Given the description of an element on the screen output the (x, y) to click on. 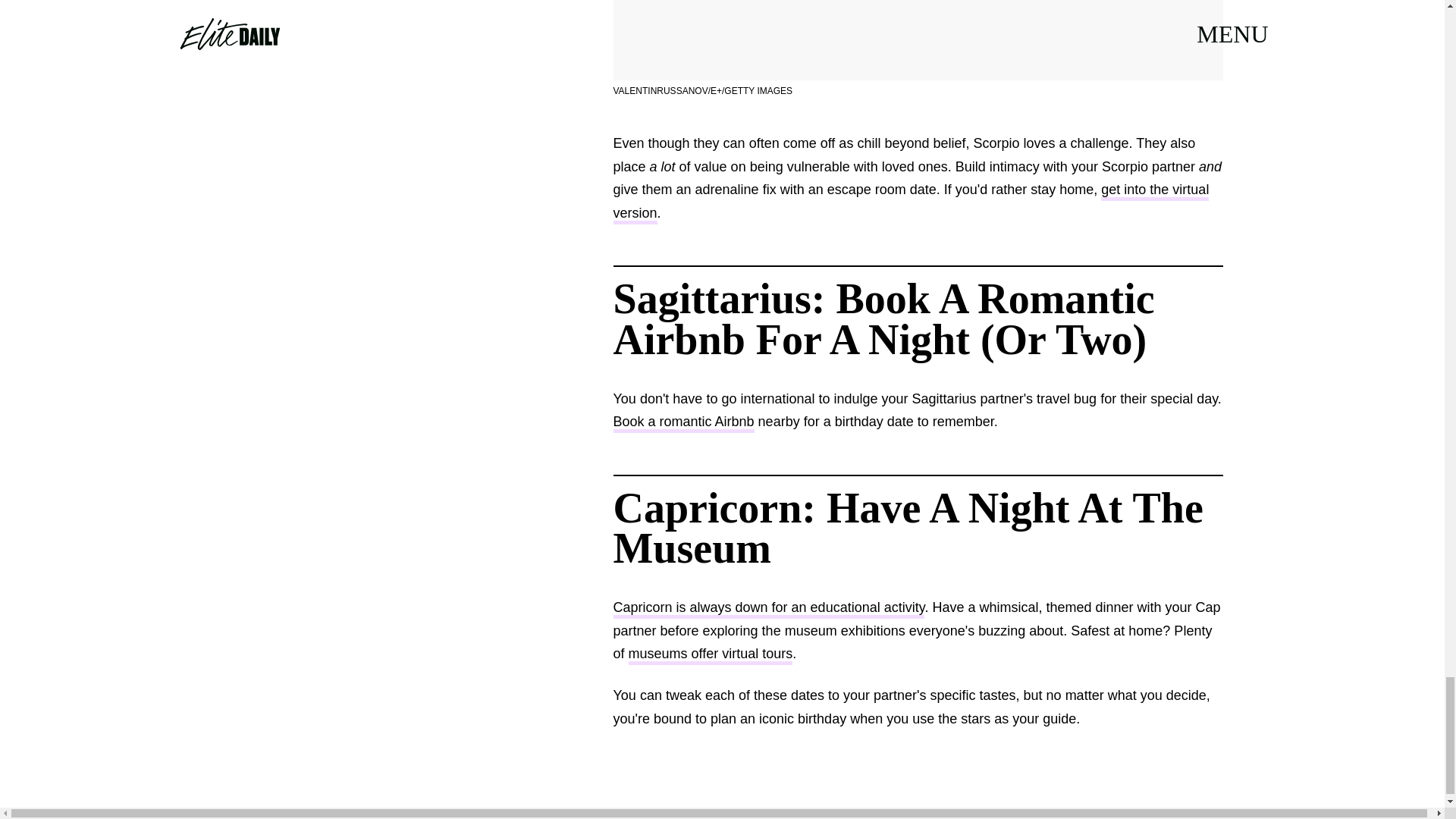
get into the virtual version (910, 202)
Capricorn is always down for an educational activity (768, 609)
museums offer virtual tours (710, 655)
Book a romantic Airbnb (683, 423)
